Given the description of an element on the screen output the (x, y) to click on. 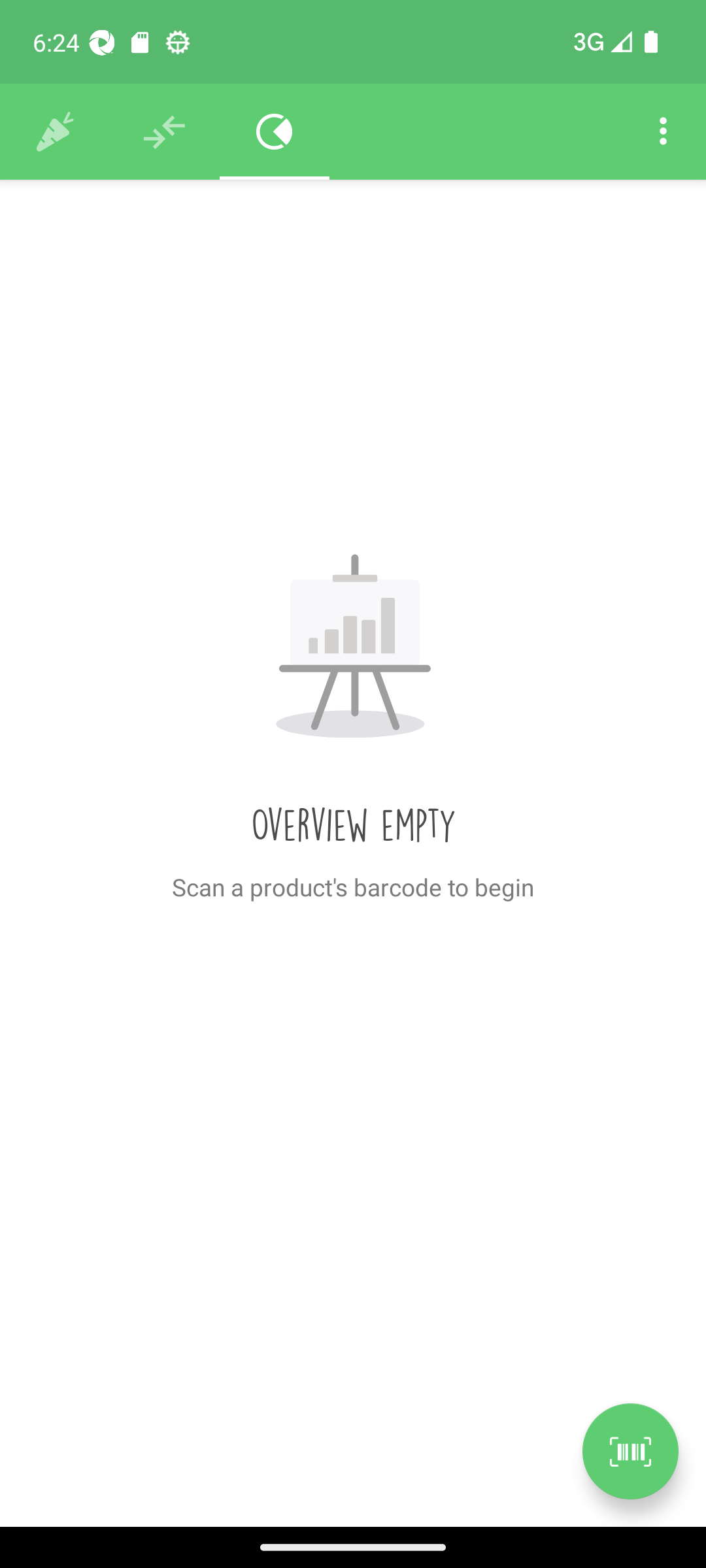
History (55, 131)
Recommendations (164, 131)
Settings (663, 131)
Scan a product (630, 1451)
